Given the description of an element on the screen output the (x, y) to click on. 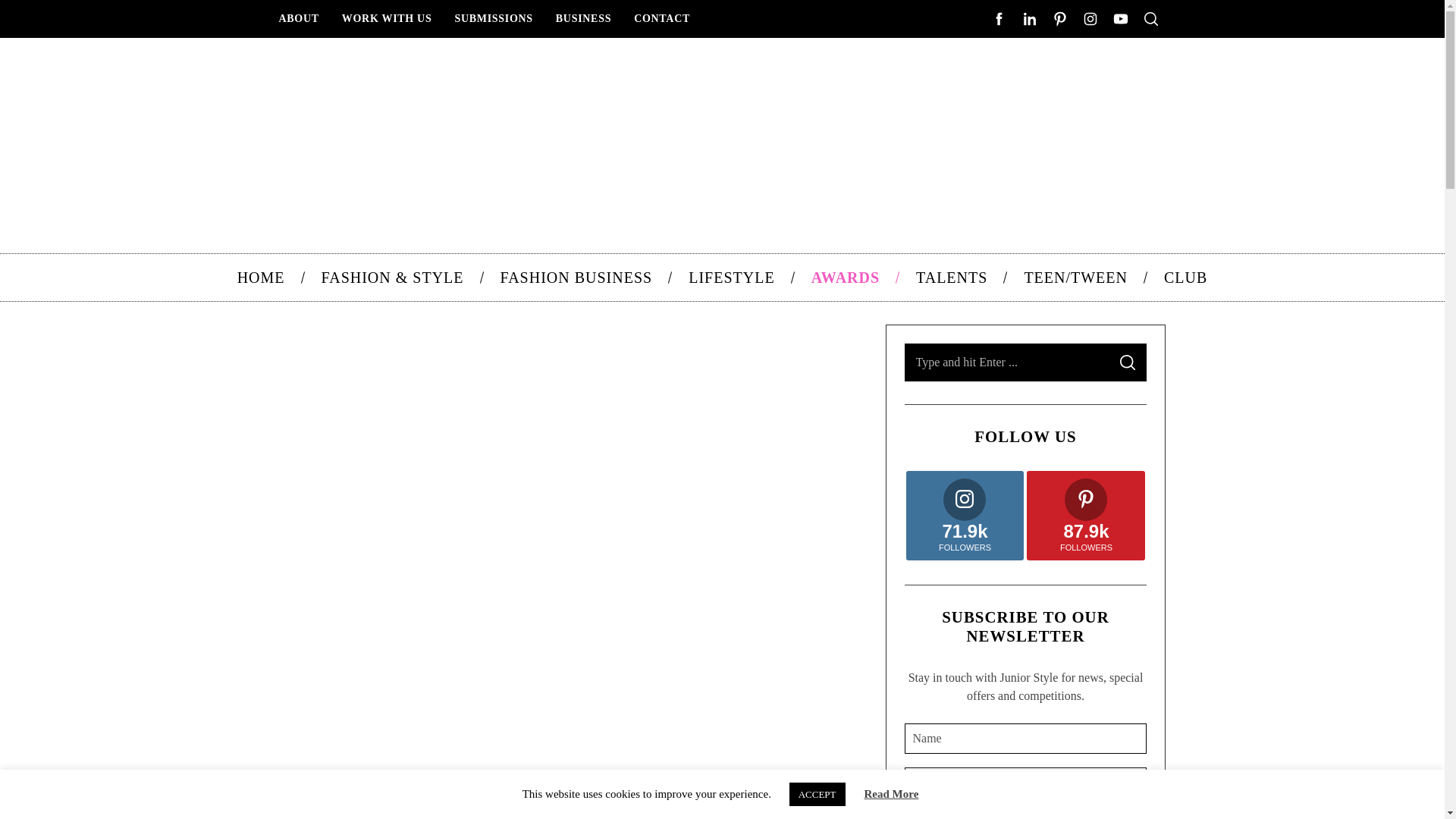
WORK WITH US (387, 18)
SUBMISSIONS (492, 18)
BUSINESS (583, 18)
CONTACT (662, 18)
ABOUT (298, 18)
HOME (260, 277)
AWARDS (845, 277)
TALENTS (952, 277)
LIFESTYLE (730, 277)
FASHION BUSINESS (576, 277)
